Given the description of an element on the screen output the (x, y) to click on. 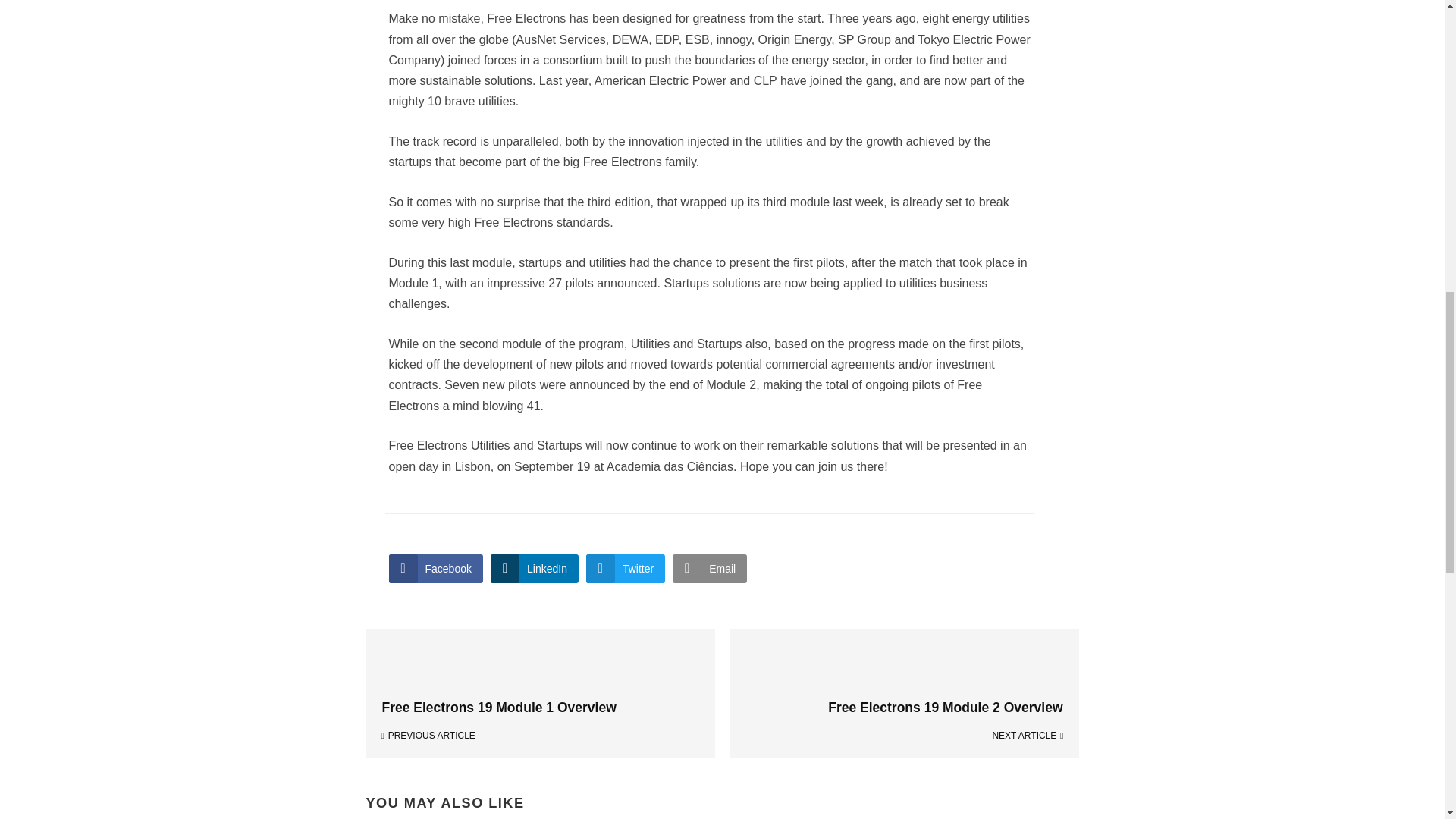
PREVIOUS ARTICLE (539, 735)
Email (709, 568)
NEXT ARTICLE (903, 735)
LinkedIn (534, 568)
Facebook (434, 568)
Twitter (625, 568)
